Given the description of an element on the screen output the (x, y) to click on. 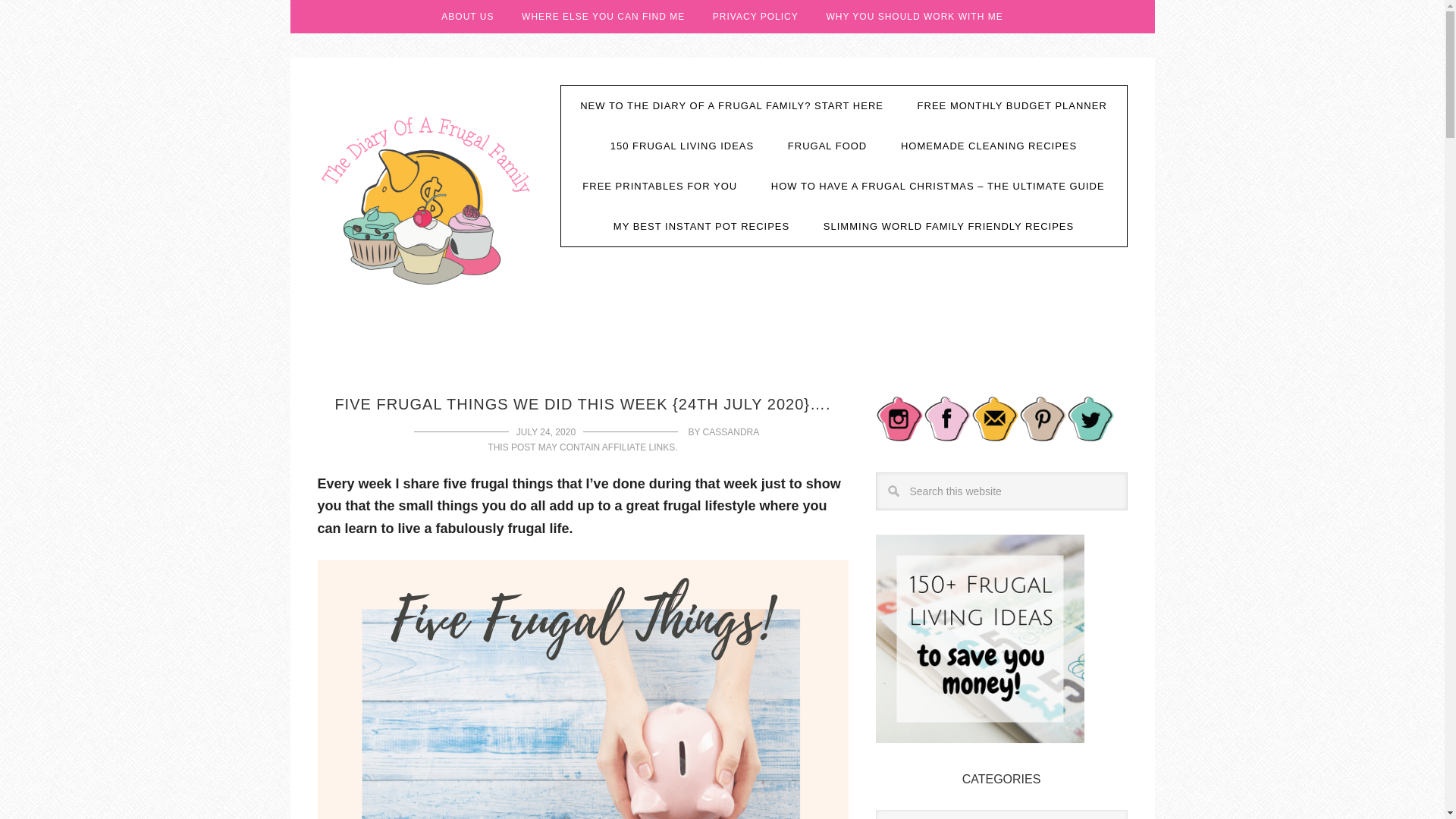
SLIMMING WORLD FAMILY FRIENDLY RECIPES (948, 226)
FRUGAL FOOD (827, 146)
FREE MONTHLY BUDGET PLANNER (1012, 105)
WHY YOU SHOULD WORK WITH ME (913, 16)
NEW TO THE DIARY OF A FRUGAL FAMILY? START HERE (731, 105)
ABOUT US (467, 16)
150 FRUGAL LIVING IDEAS (681, 146)
WHERE ELSE YOU CAN FIND ME (603, 16)
THE DIARY OF A FRUGAL FAMILY (427, 198)
